Given the description of an element on the screen output the (x, y) to click on. 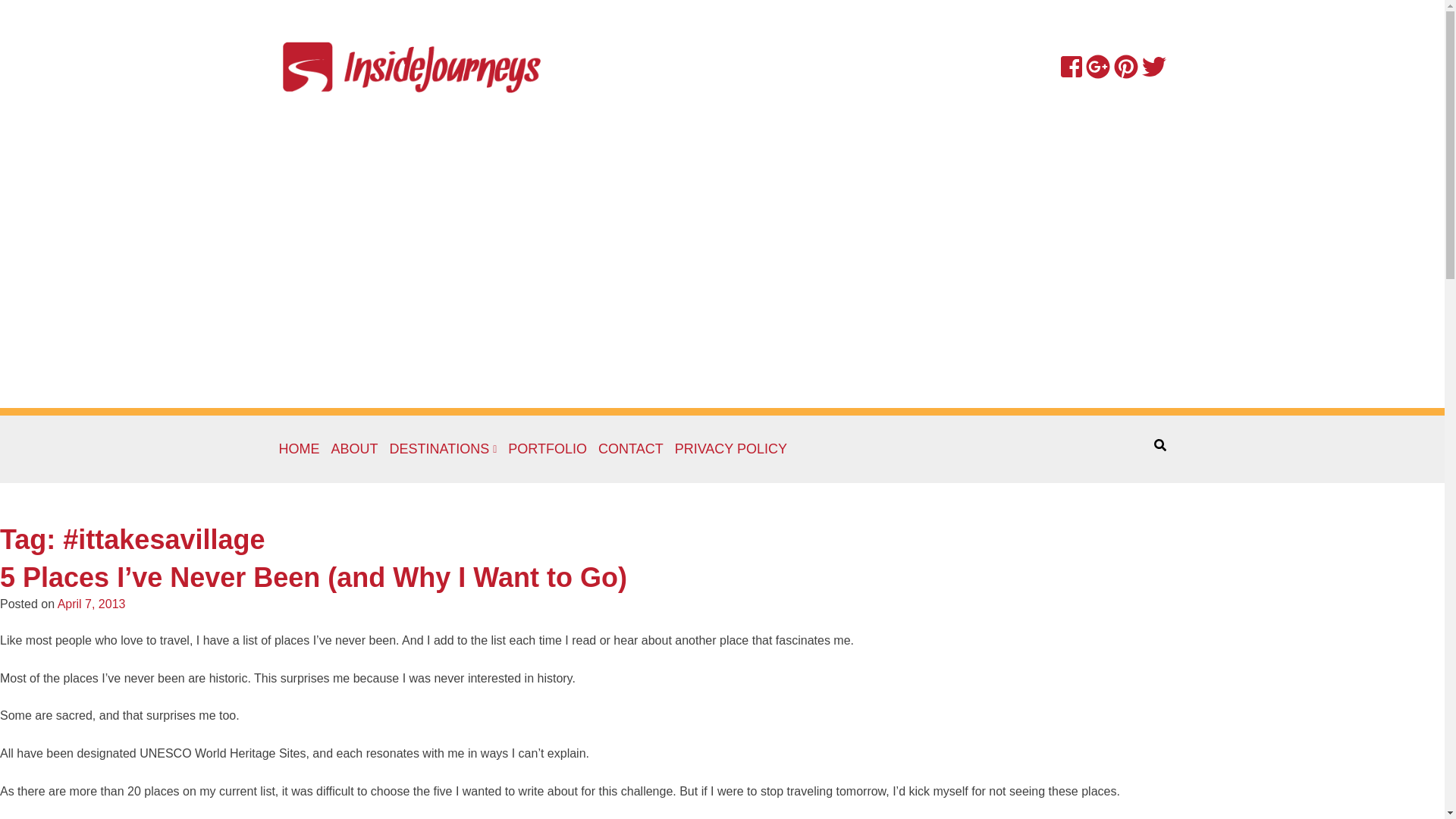
PRIVACY POLICY (731, 449)
PORTFOLIO (547, 449)
InsideJourneys (411, 65)
ABOUT (353, 449)
CONTACT (630, 449)
DESTINATIONS (443, 449)
HOME (299, 449)
